Given the description of an element on the screen output the (x, y) to click on. 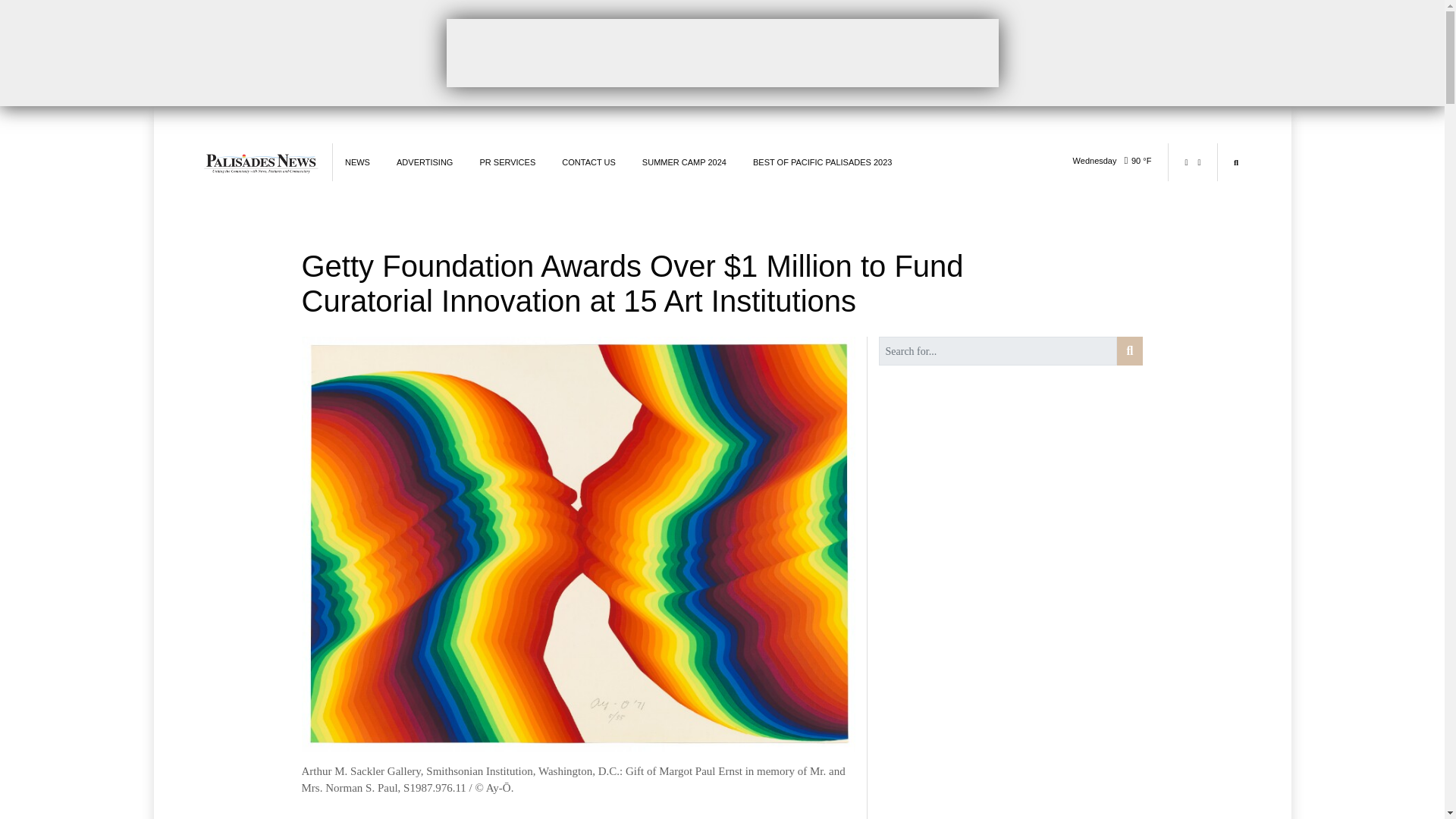
3rd party ad content (721, 52)
SUMMER CAMP 2024 (684, 161)
PR SERVICES (507, 161)
CONTACT US (588, 161)
BEST OF PACIFIC PALISADES 2023 (821, 161)
NEWS (357, 161)
ADVERTISING (424, 161)
